Given the description of an element on the screen output the (x, y) to click on. 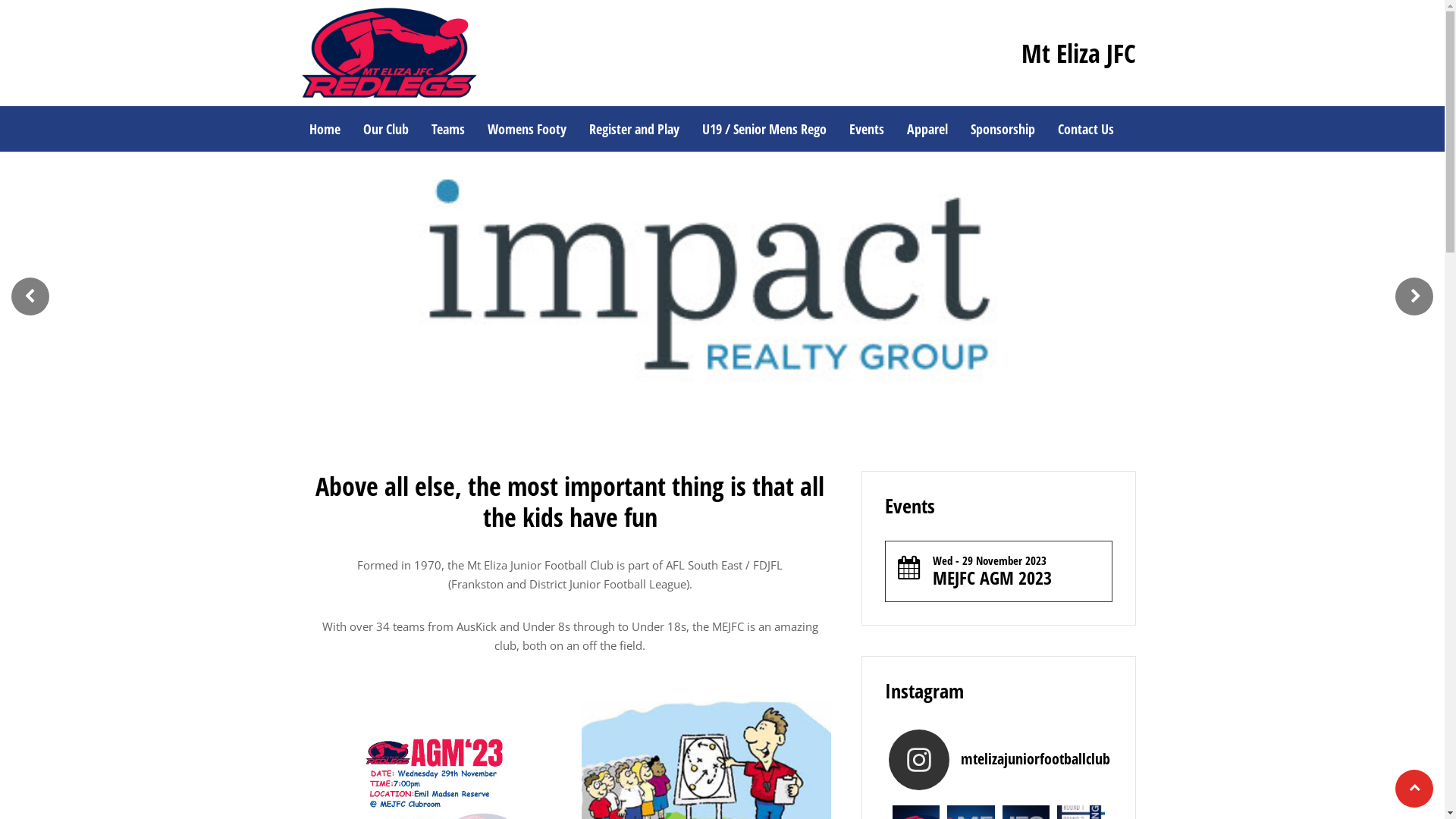
U19 / Senior Mens Rego Element type: text (763, 128)
mtelizajuniorfootballclub Element type: text (998, 759)
Home Element type: text (324, 128)
Events Element type: text (865, 128)
Wed - 29 November 2023
MEJFC AGM 2023 Element type: text (998, 571)
Apparel Element type: text (926, 128)
Our Club Element type: text (385, 128)
Contact Us Element type: text (1085, 128)
Sponsorship Element type: text (1001, 128)
Teams Element type: text (448, 128)
Register and Play Element type: text (633, 128)
Womens Footy Element type: text (526, 128)
